Given the description of an element on the screen output the (x, y) to click on. 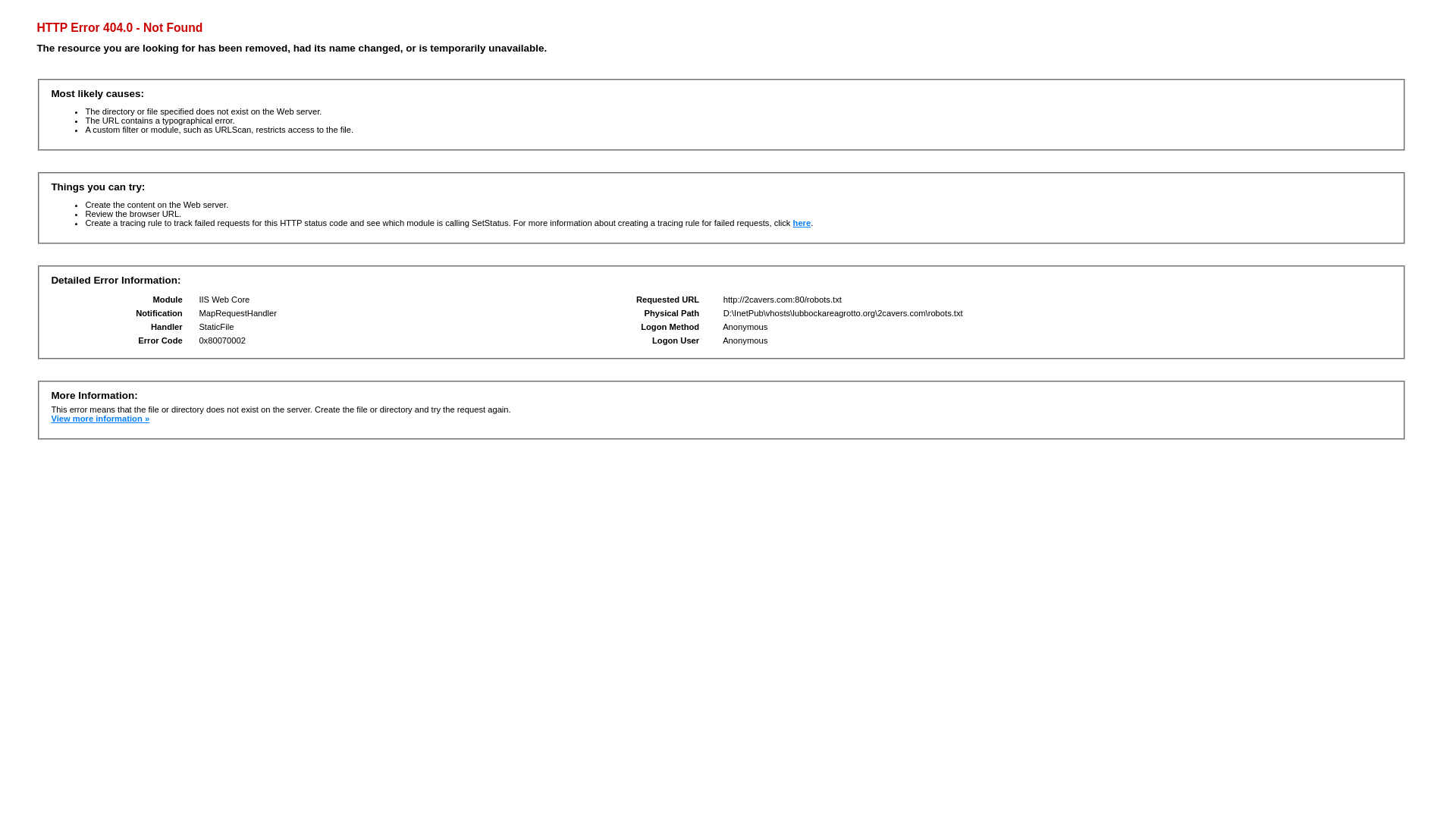
here Element type: text (802, 222)
